Given the description of an element on the screen output the (x, y) to click on. 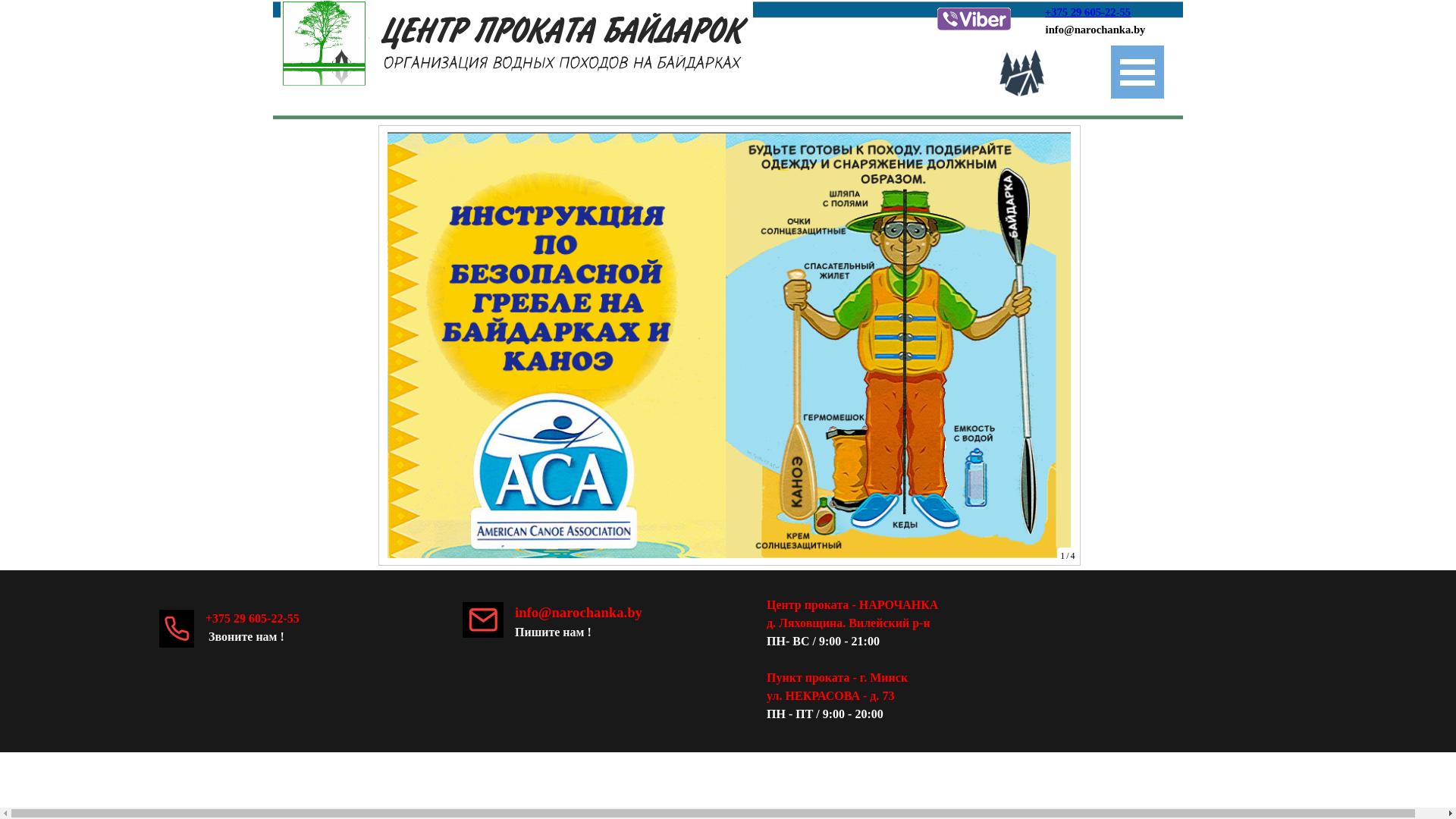
+375 29 605-22-55 Element type: text (1087, 12)
